Given the description of an element on the screen output the (x, y) to click on. 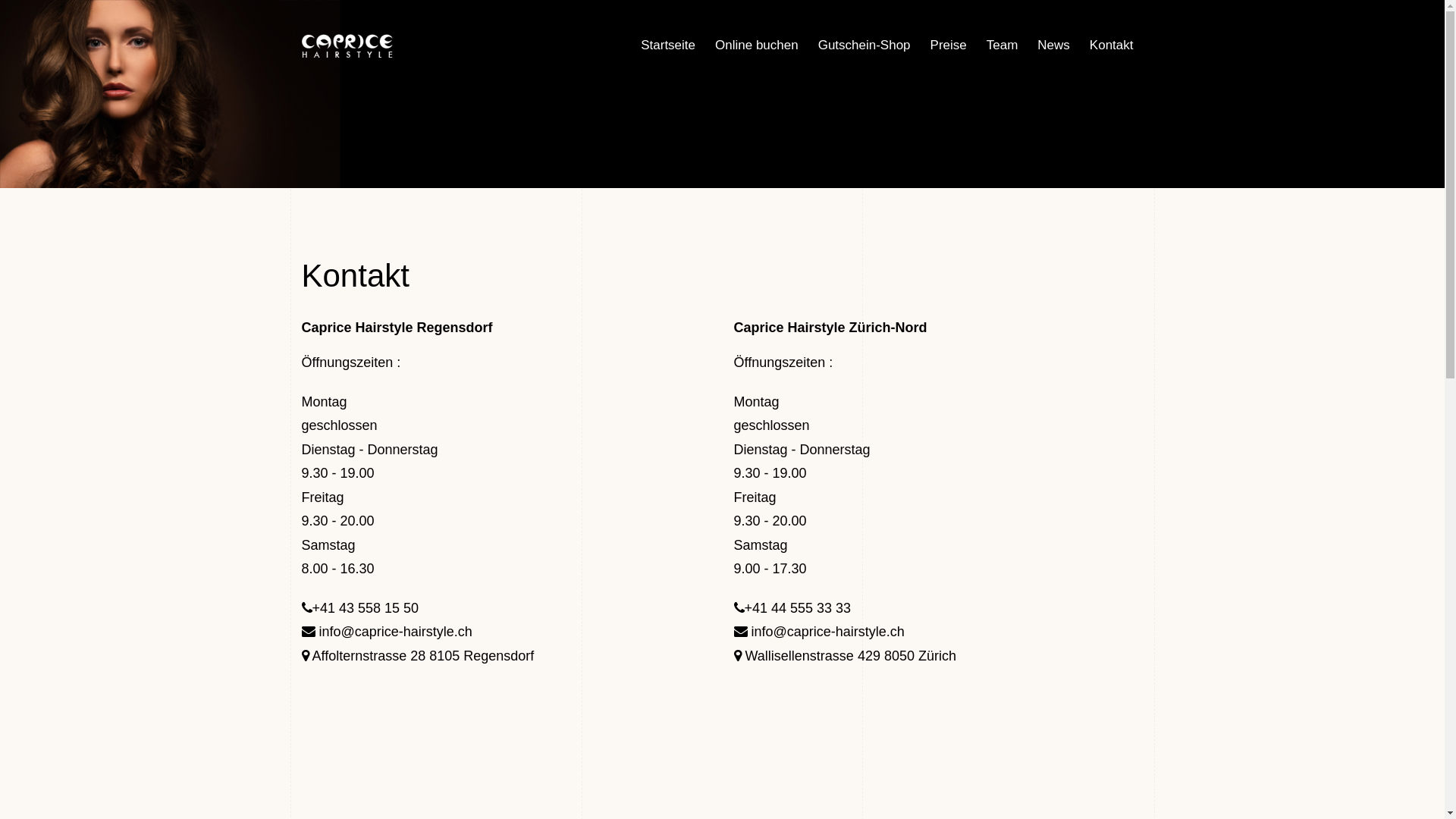
Kontakt Element type: text (1111, 45)
Online buchen Element type: text (756, 45)
+41 44 555 33 33 Element type: text (797, 608)
Team Element type: text (1002, 45)
Startseite Element type: text (667, 45)
info@caprice-hairstyle.ch Element type: text (819, 632)
News Element type: text (1053, 45)
Gutschein-Shop Element type: text (864, 45)
+41 43 558 15 50 Element type: text (365, 608)
Preise Element type: text (948, 45)
info@caprice-hairstyle.ch Element type: text (386, 632)
